Given the description of an element on the screen output the (x, y) to click on. 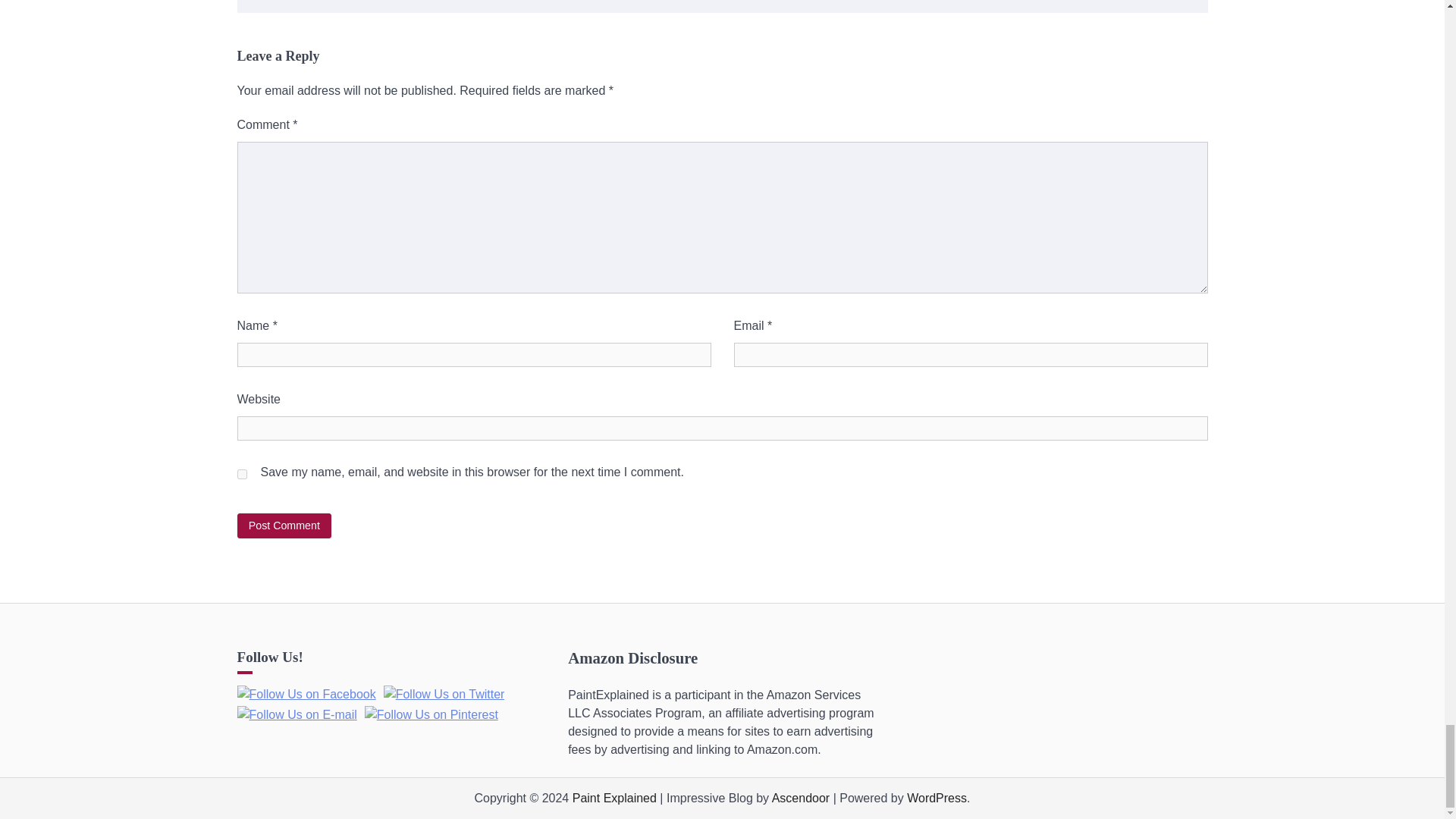
Follow Us on Twitter (444, 694)
yes (240, 474)
Follow Us on Facebook (305, 694)
Post Comment (283, 525)
